Given the description of an element on the screen output the (x, y) to click on. 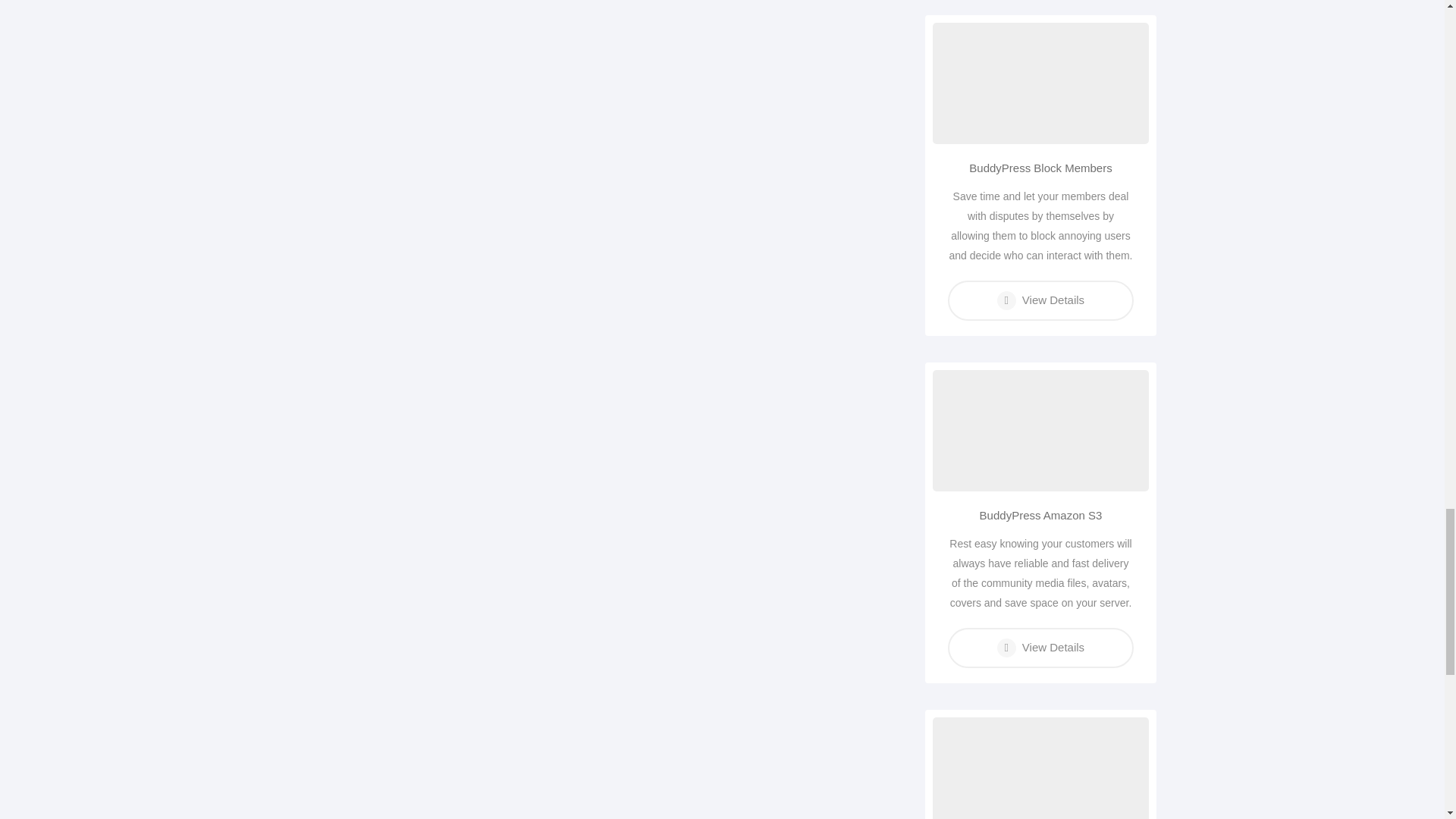
View Details (1040, 300)
View Details (1040, 648)
BuddyPress Amazon S3 (1040, 515)
BuddyPress Block Members (1040, 167)
